Given the description of an element on the screen output the (x, y) to click on. 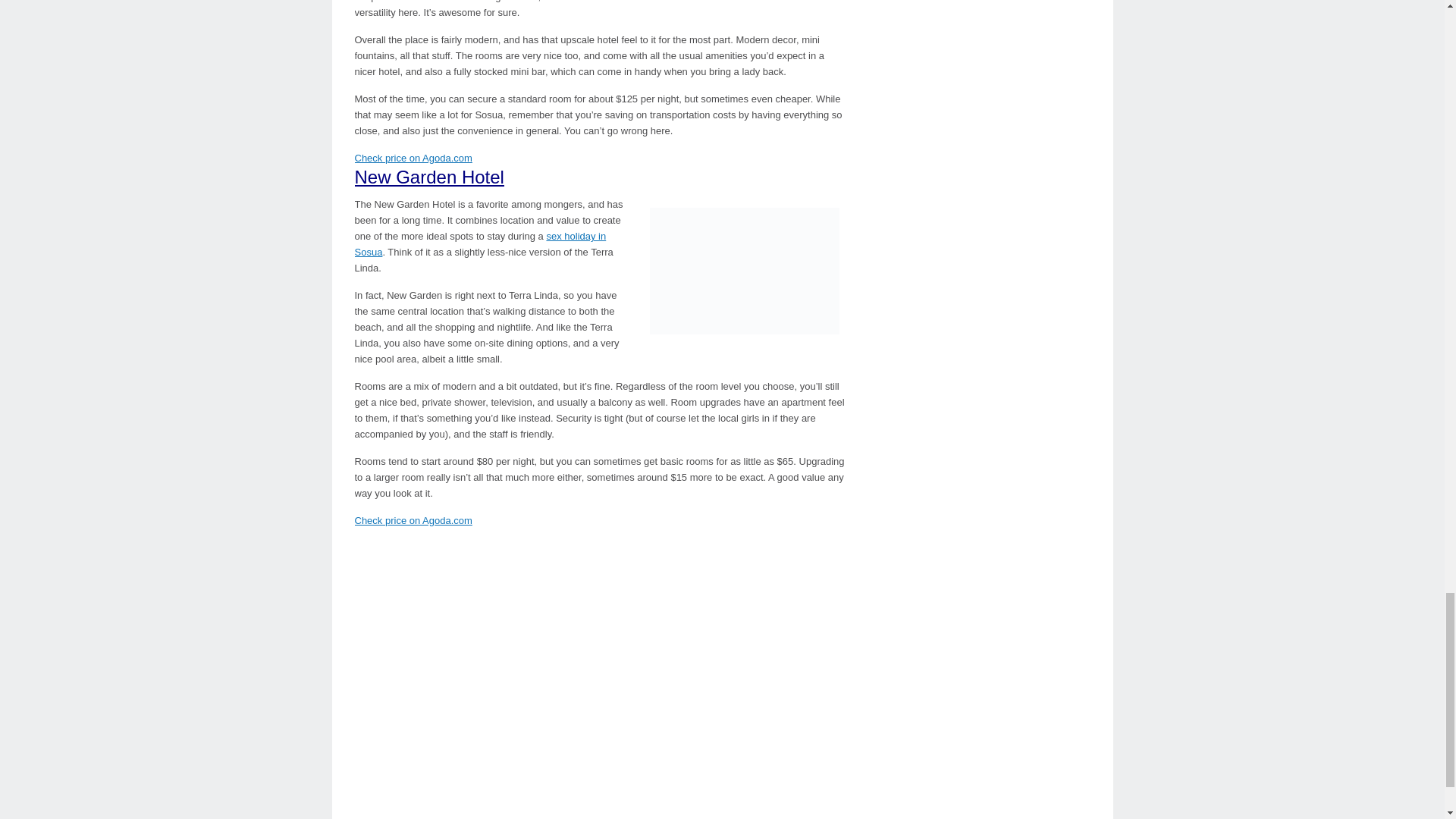
sex holiday in Sosua (481, 243)
Girl Friendly Hotel in Sosua (744, 270)
New Garden Hotel (429, 177)
Check price on Agoda.com (413, 157)
Check price on Agoda.com (413, 520)
